Given the description of an element on the screen output the (x, y) to click on. 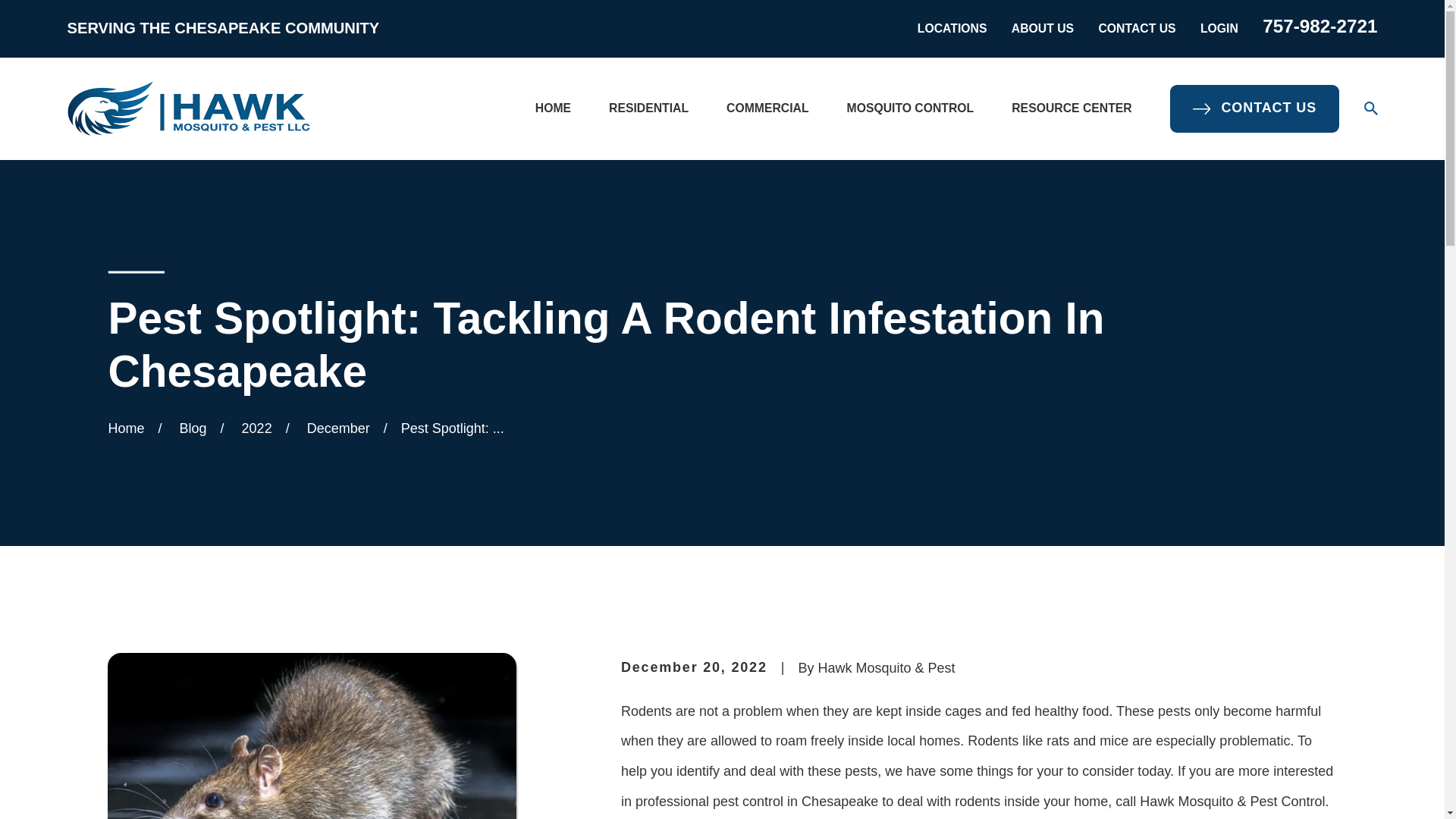
COMMERCIAL (767, 108)
CONTACT US (1135, 28)
MOSQUITO CONTROL (910, 108)
ABOUT US (1042, 28)
LOCATIONS (952, 28)
RESOURCE CENTER (1071, 108)
Go Home (125, 427)
RESIDENTIAL (648, 108)
757-982-2721 (1319, 25)
LOGIN (1219, 28)
